Given the description of an element on the screen output the (x, y) to click on. 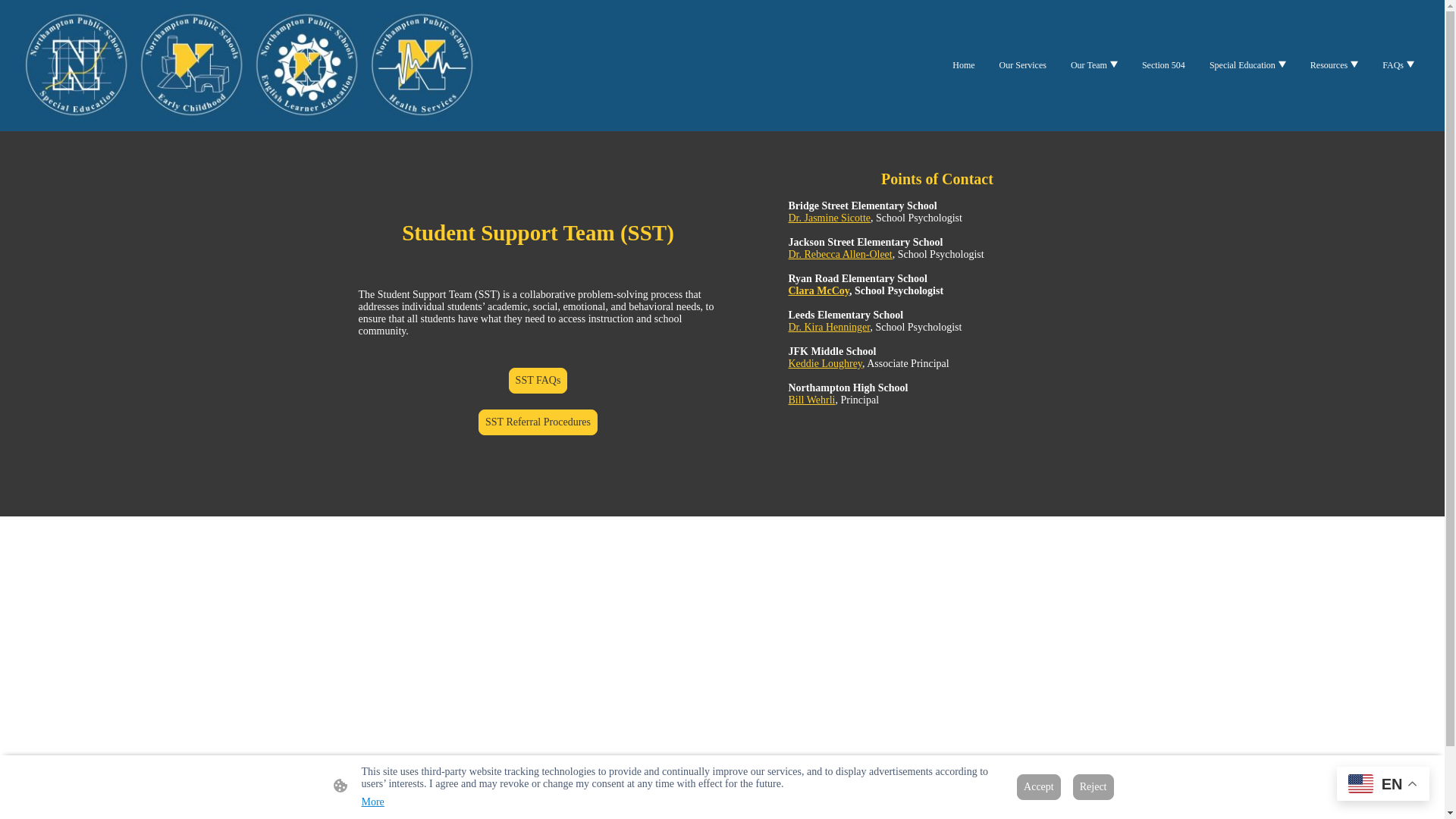
Our Team (1093, 65)
Home (962, 65)
Our Services (1022, 65)
Dr. Rebecca Allen-Oleet (840, 254)
Resources (1334, 65)
Special Education (1248, 65)
Dr. Jasmine Sicotte (829, 217)
FAQs (1398, 65)
SST FAQs (537, 380)
Section 504 (1163, 65)
Clara McCoy (818, 290)
